Given the description of an element on the screen output the (x, y) to click on. 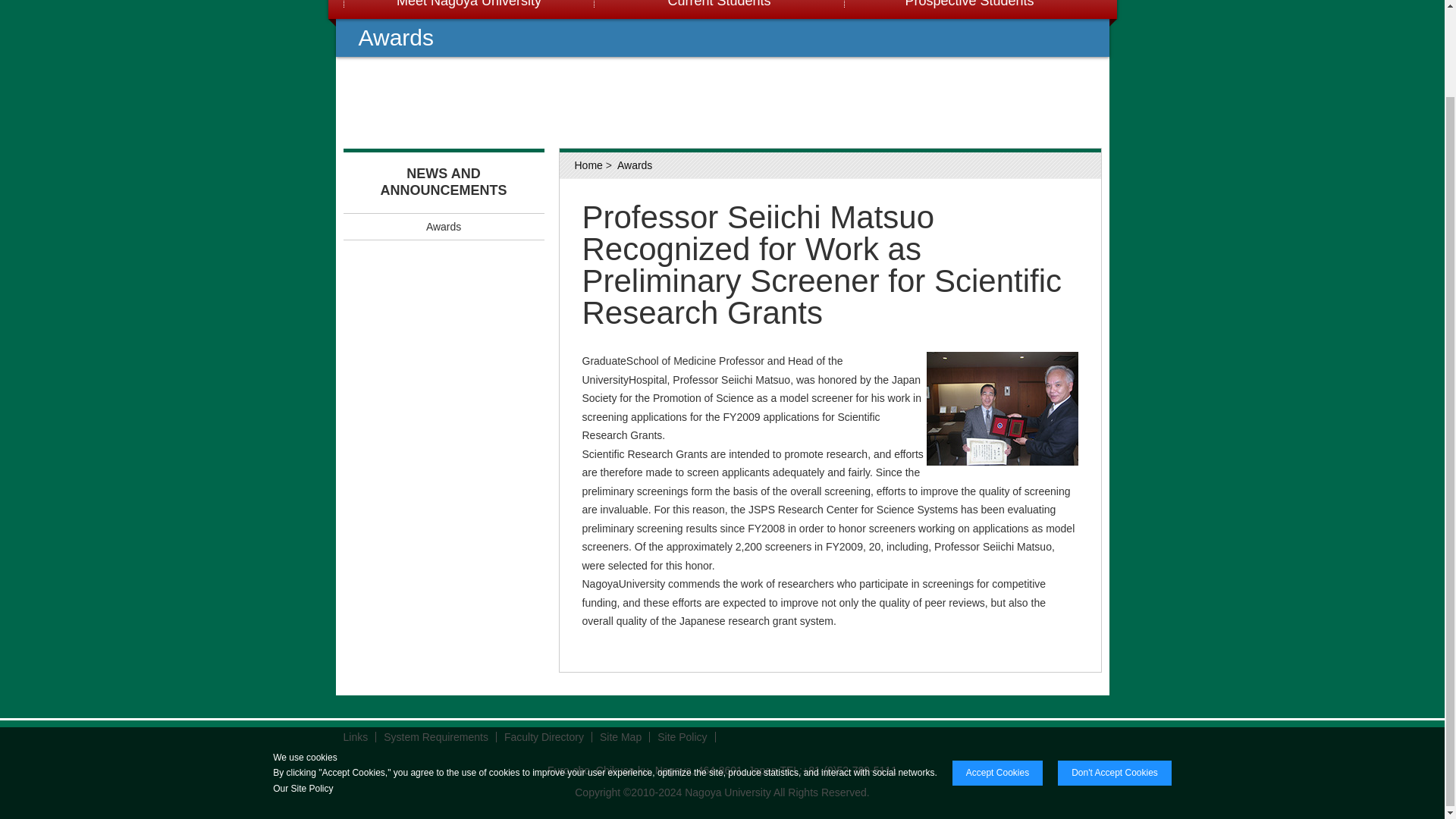
Current Students (717, 9)
Prospective Students (968, 9)
Home (588, 164)
Meet Nagoya University (467, 9)
